Given the description of an element on the screen output the (x, y) to click on. 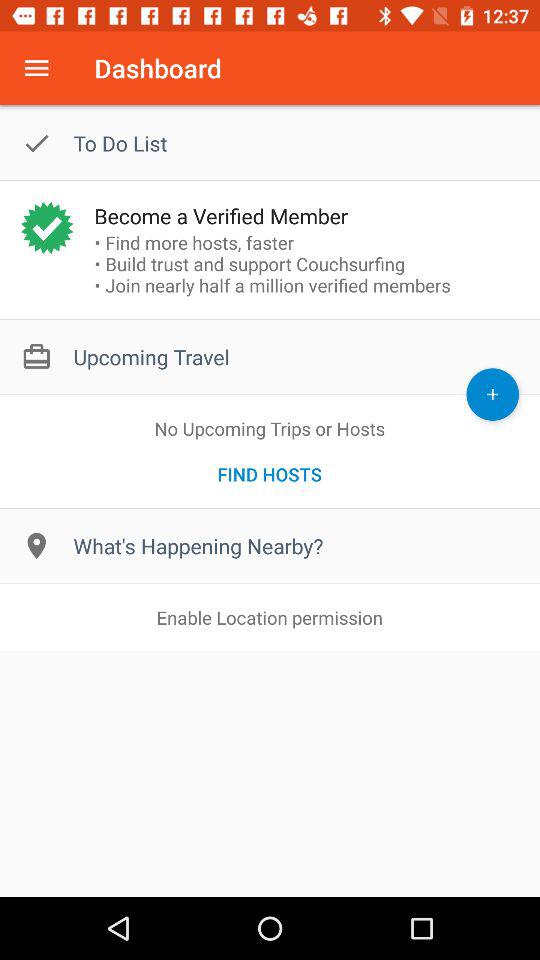
open item next to the dashboard (36, 68)
